Given the description of an element on the screen output the (x, y) to click on. 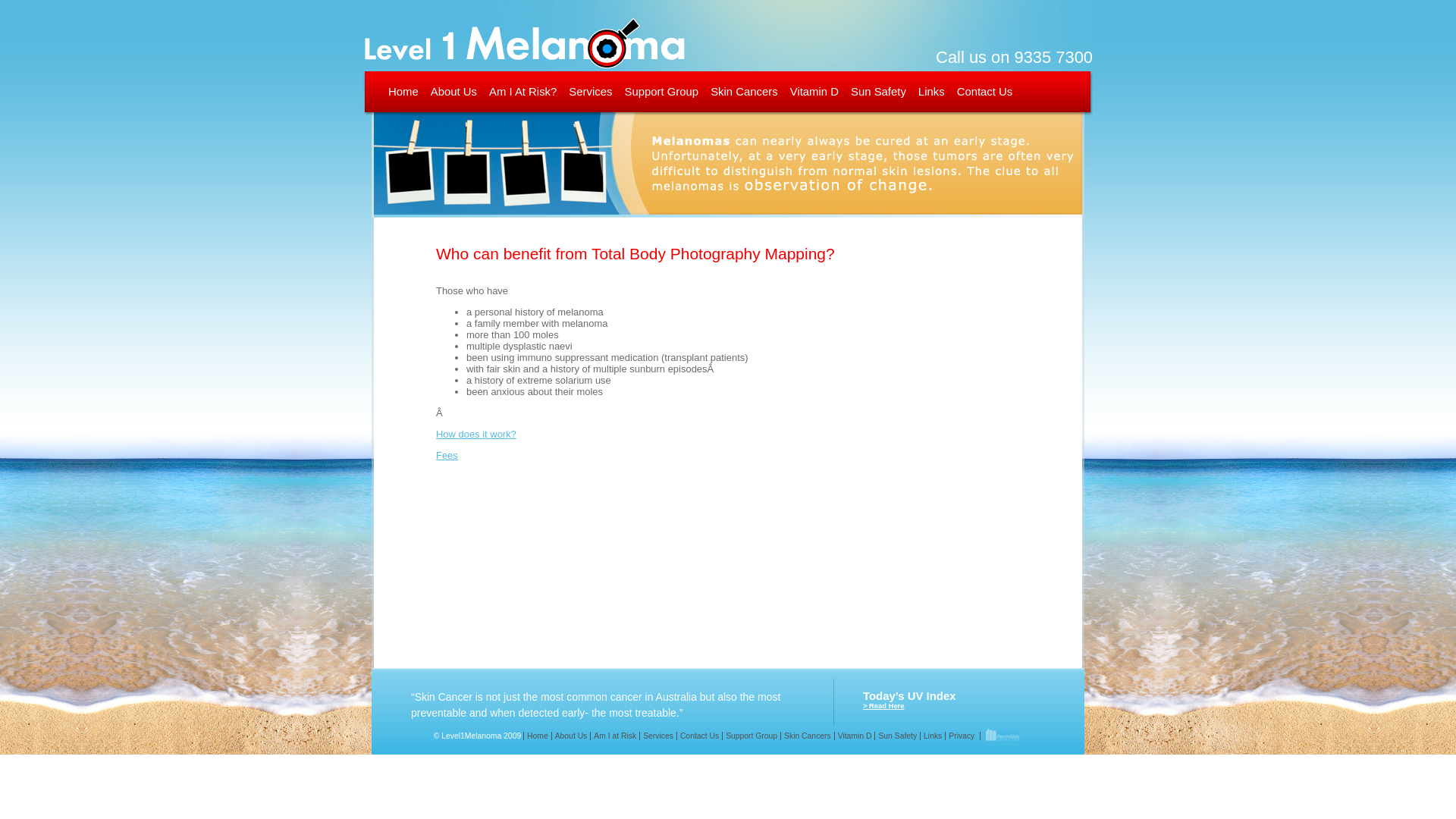
Skin Cancers Element type: text (807, 735)
Contact Us Element type: text (698, 735)
Services Element type: text (657, 735)
About Us Element type: text (453, 91)
Support Group Element type: text (750, 735)
PerthWeb | Web Design and Development Company Element type: hover (1000, 735)
Sun Safety Element type: text (878, 91)
Fees Element type: text (447, 455)
About Us Element type: text (570, 735)
Home Element type: text (403, 91)
Links Element type: text (931, 91)
Home Element type: text (537, 735)
Services Element type: text (589, 91)
How does it work? Element type: text (476, 433)
Am I at Risk Element type: text (614, 735)
Vitamin D Element type: text (814, 91)
Skin Cancers Element type: text (744, 91)
Links Element type: text (931, 735)
Contact Us Element type: text (985, 91)
Privacy Element type: text (960, 735)
Sun Safety Element type: text (896, 735)
Vitamin D Element type: text (854, 735)
Am I At Risk? Element type: text (522, 91)
> Read Here Element type: text (882, 705)
Support Group Element type: text (661, 91)
